Given the description of an element on the screen output the (x, y) to click on. 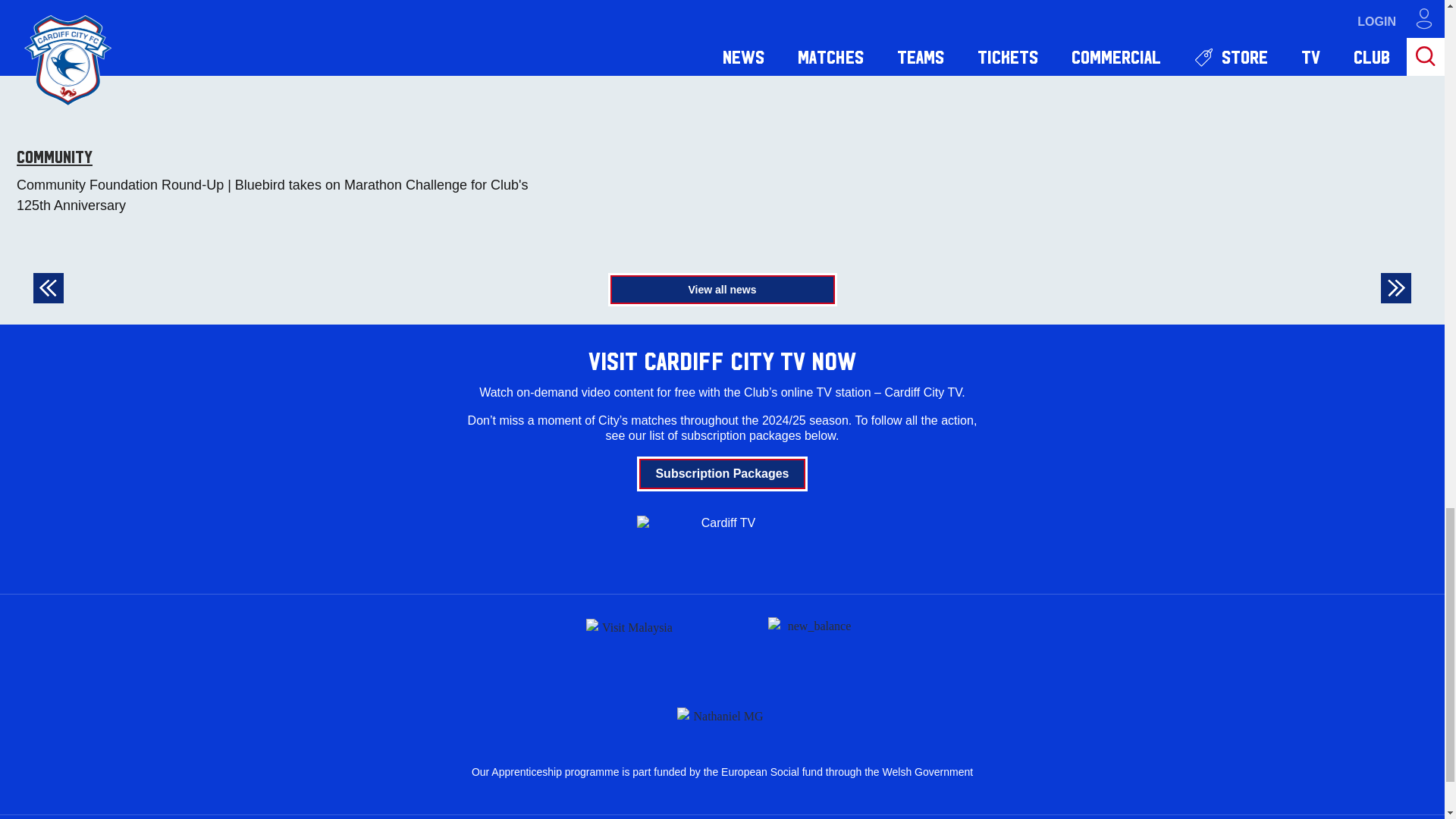
New Balance (813, 645)
Visit Malaysia (631, 645)
Nathaniel Cars (722, 713)
